Given the description of an element on the screen output the (x, y) to click on. 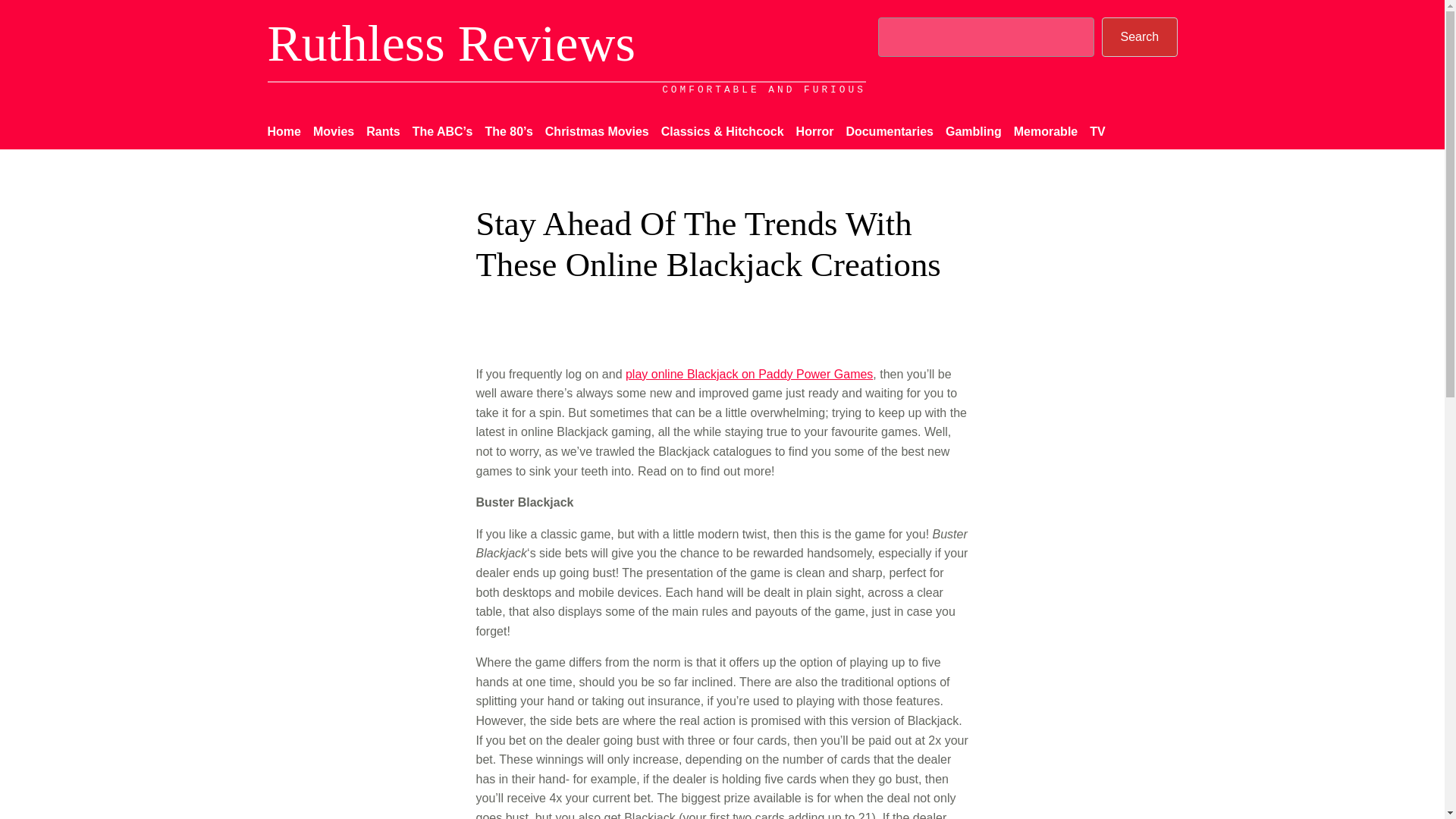
Christmas Movies (596, 131)
Gambling (972, 131)
Horror (815, 131)
Search (1139, 36)
Documentaries (889, 131)
Ruthless Reviews (450, 42)
Movies (333, 131)
Rants (382, 131)
Home (282, 131)
Memorable (1045, 131)
